Given the description of an element on the screen output the (x, y) to click on. 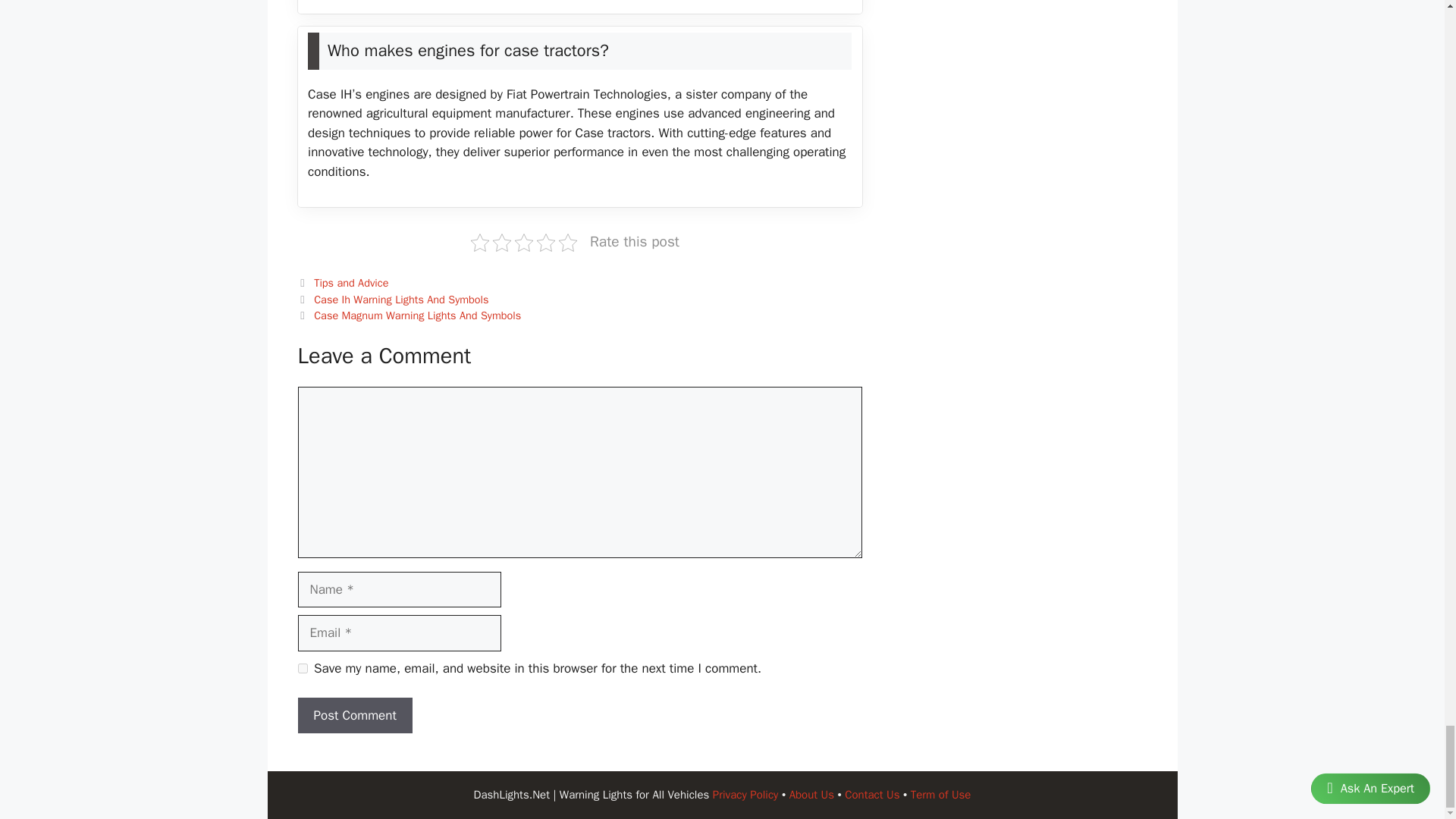
Case Magnum Warning Lights And Symbols (417, 315)
Post Comment (354, 715)
Case Ih Warning Lights And Symbols (400, 299)
Contact Us (871, 794)
yes (302, 668)
Next (409, 315)
Post Comment (354, 715)
Term of Use (941, 794)
Previous (392, 299)
Tips and Advice (351, 282)
About Us (811, 794)
Privacy Policy (745, 794)
